Given the description of an element on the screen output the (x, y) to click on. 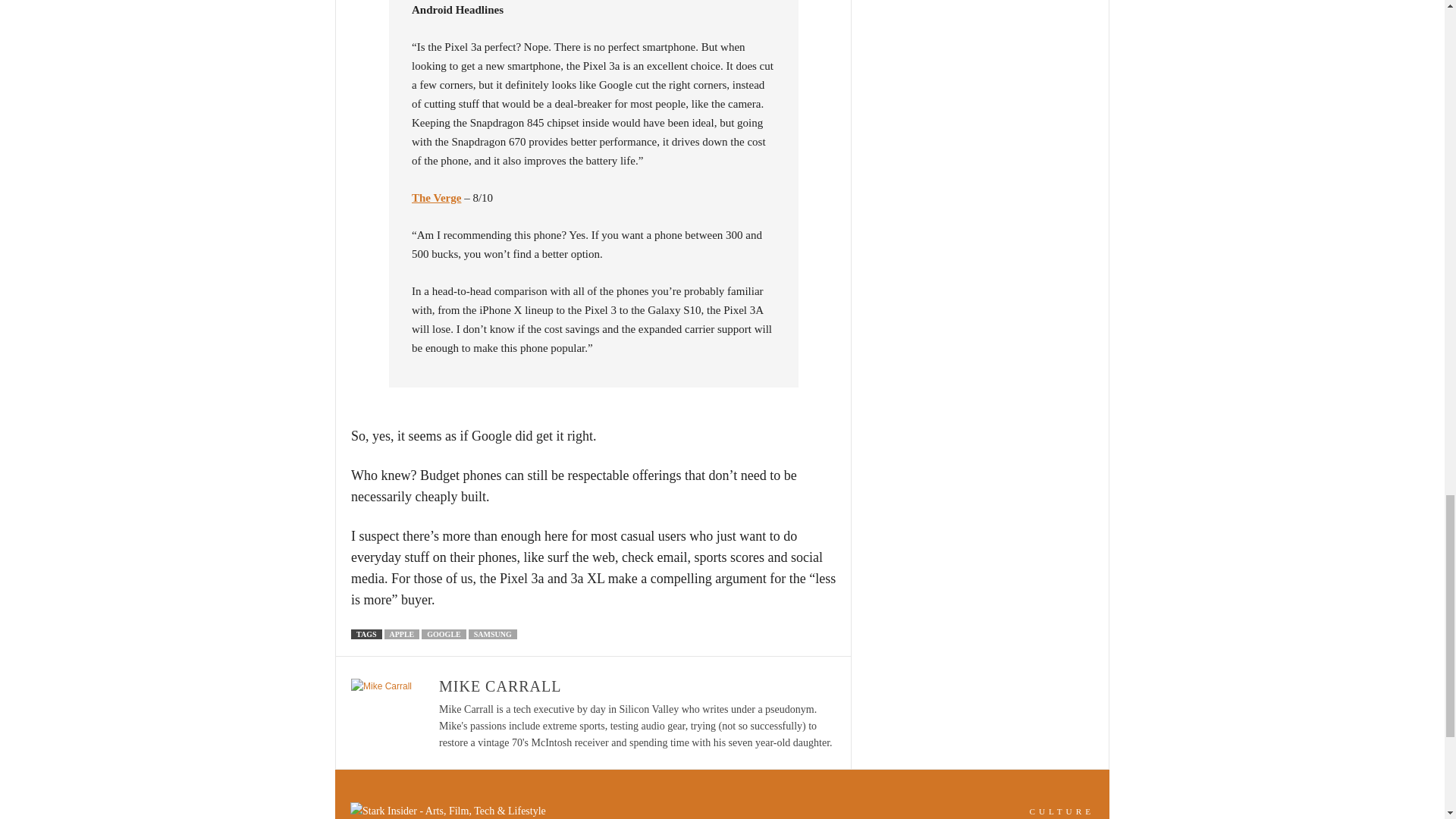
CULTURE (1061, 810)
MIKE CARRALL (499, 686)
The Verge (436, 197)
APPLE (401, 634)
GOOGLE (443, 634)
SAMSUNG (492, 634)
Indie film, music, arts in San Francisco and Silicon Valley (1061, 810)
